Given the description of an element on the screen output the (x, y) to click on. 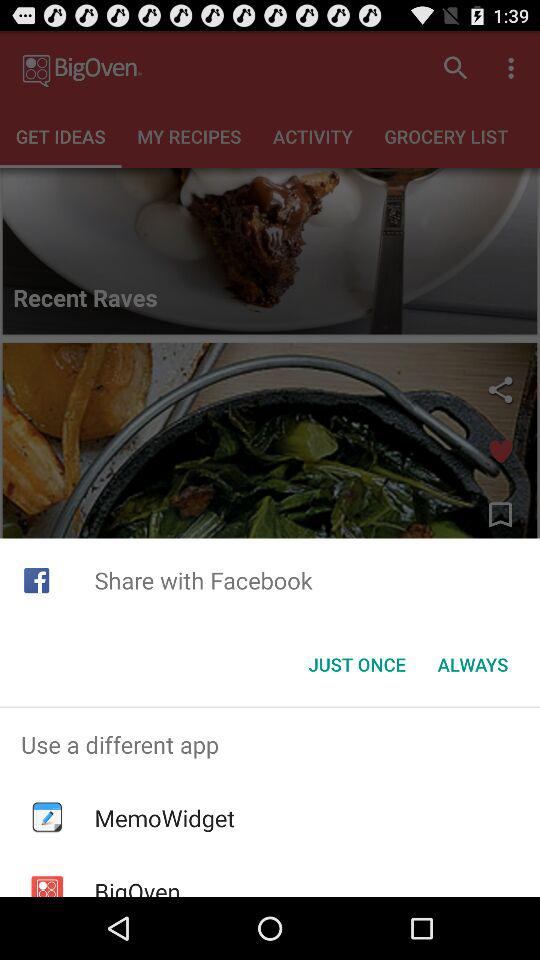
turn on button to the right of just once icon (472, 664)
